Given the description of an element on the screen output the (x, y) to click on. 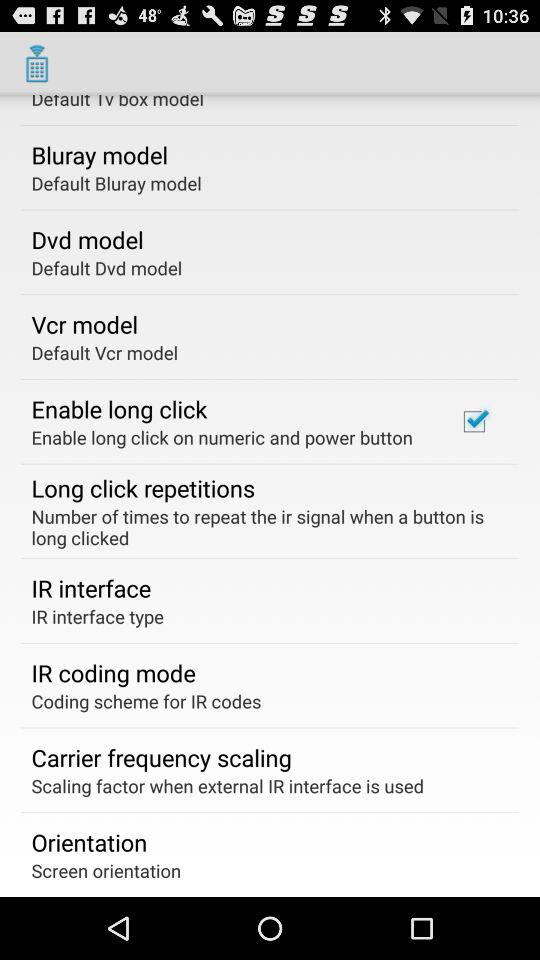
flip to the scaling factor when (227, 785)
